Given the description of an element on the screen output the (x, y) to click on. 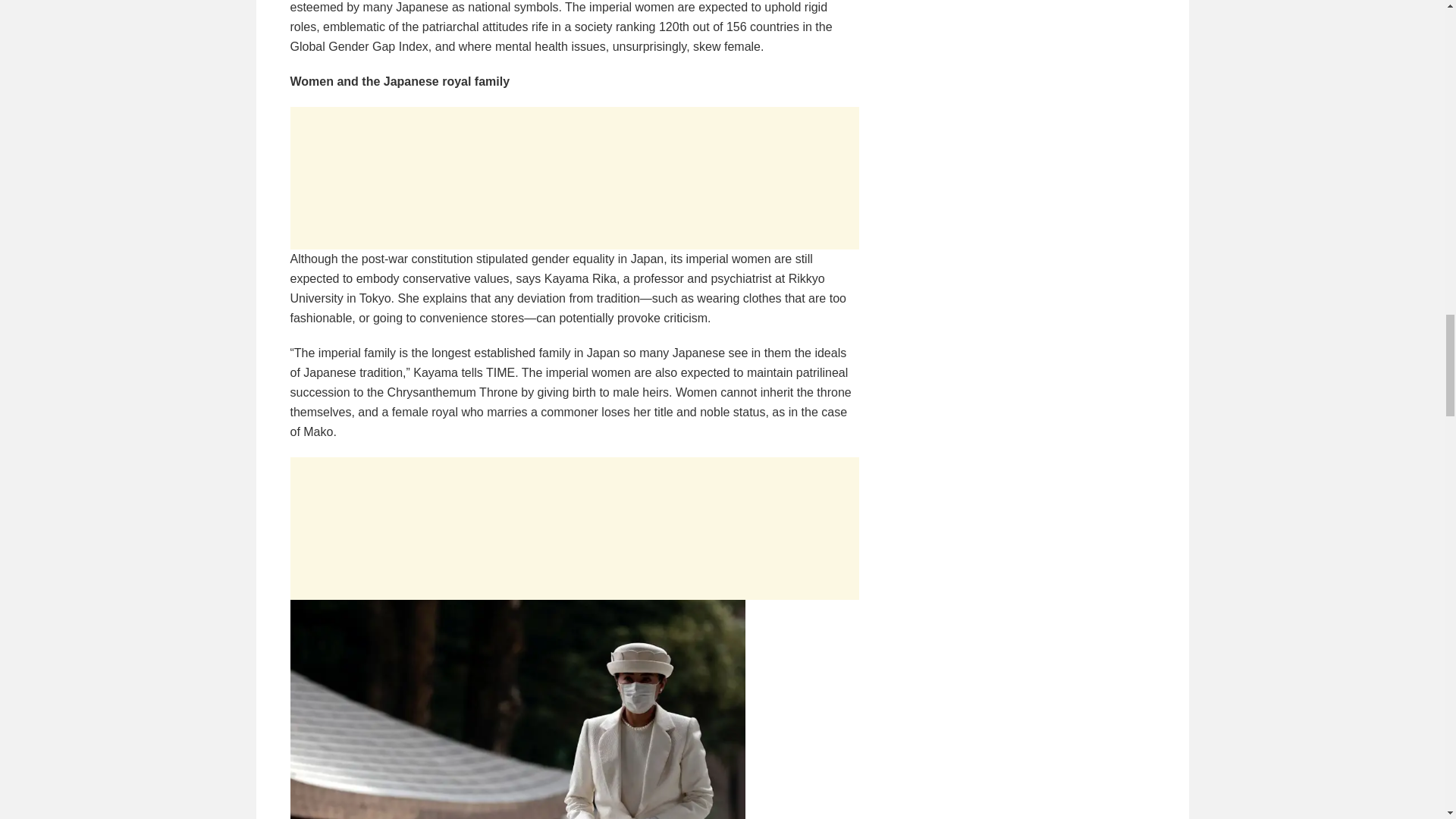
Advertisement (574, 178)
Advertisement (574, 528)
